Given the description of an element on the screen output the (x, y) to click on. 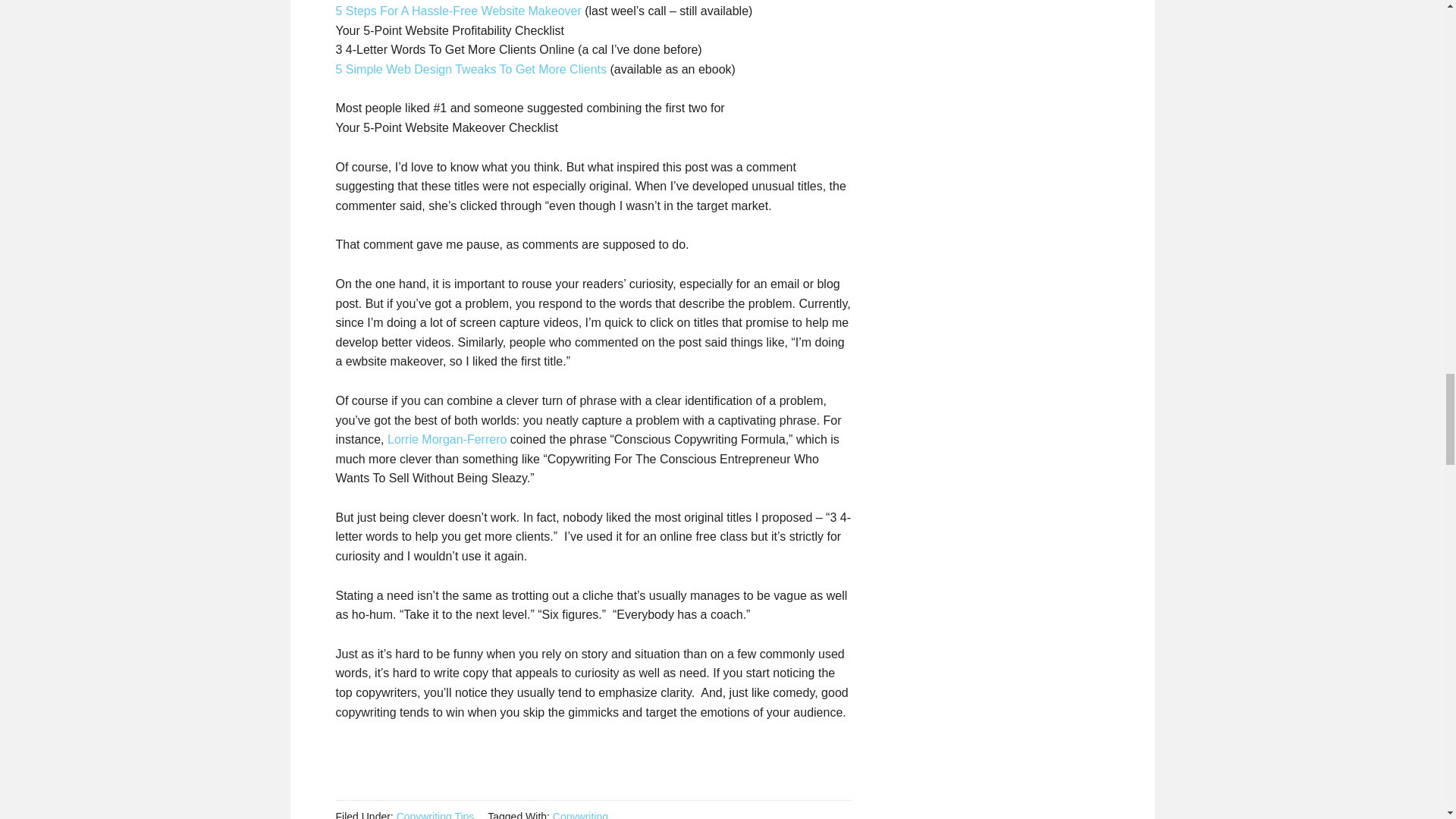
Copywriting (580, 814)
Copywriting Tips (435, 814)
5 Steps For A Hassle-Free Website Makeover (457, 10)
Lorrie Morgan-Ferrero (446, 439)
5 Simple Web Design Tweaks To Get More Clients (470, 69)
